Given the description of an element on the screen output the (x, y) to click on. 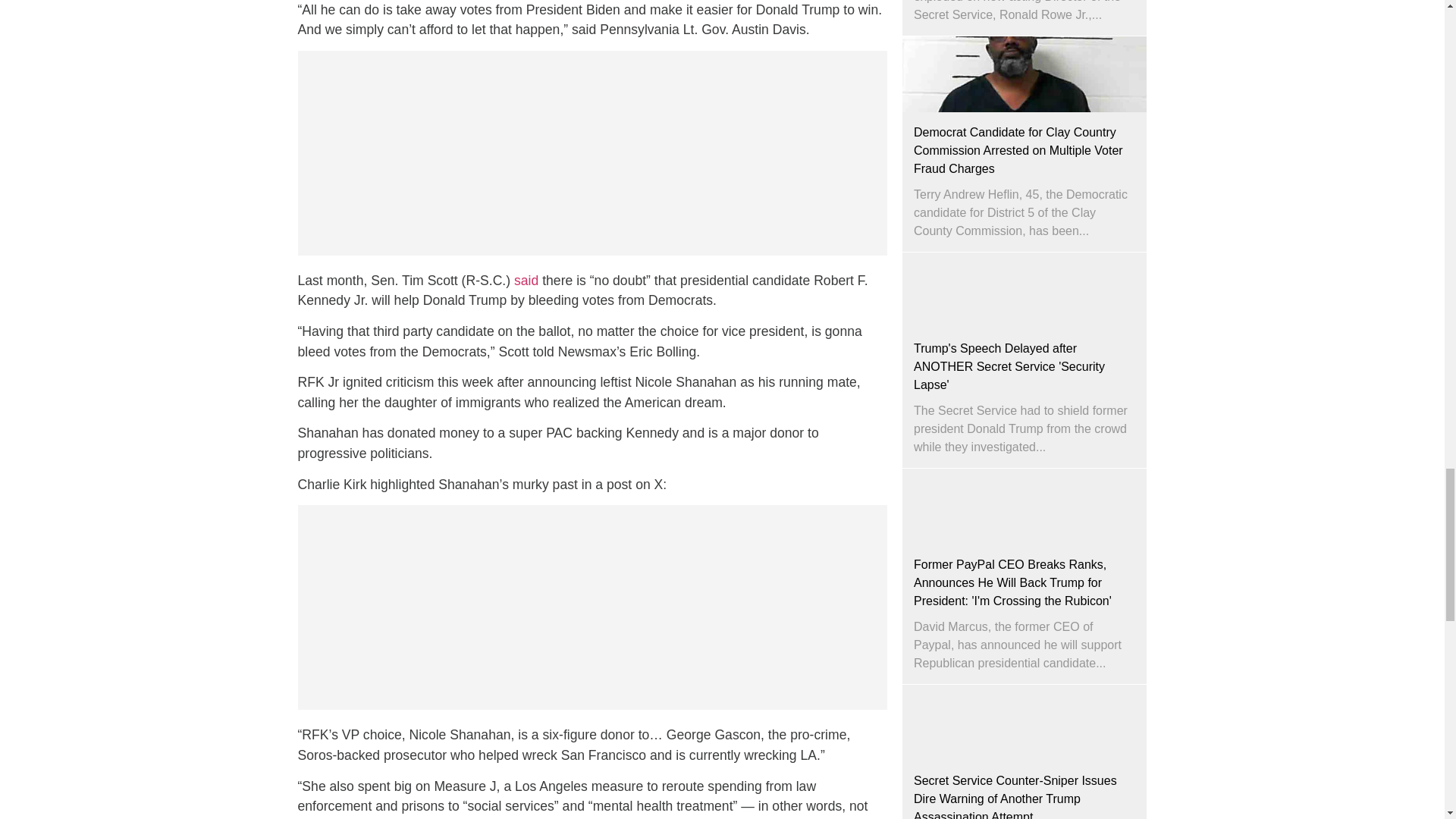
said (527, 280)
